Given the description of an element on the screen output the (x, y) to click on. 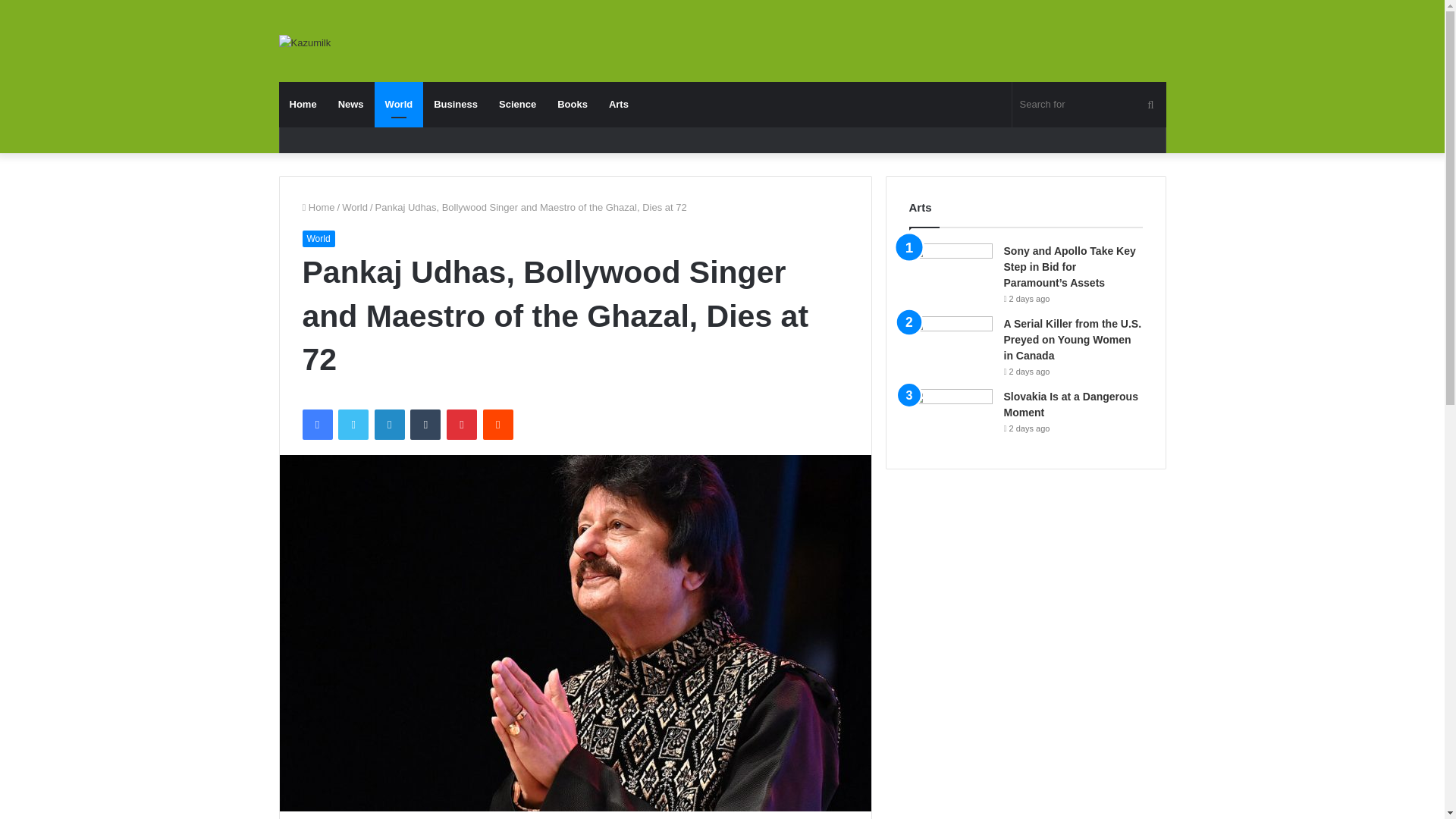
Arts (618, 104)
Home (317, 206)
Reddit (498, 424)
Business (455, 104)
Facebook (316, 424)
Home (303, 104)
Pinterest (461, 424)
Tumblr (425, 424)
World (398, 104)
News (350, 104)
